Given the description of an element on the screen output the (x, y) to click on. 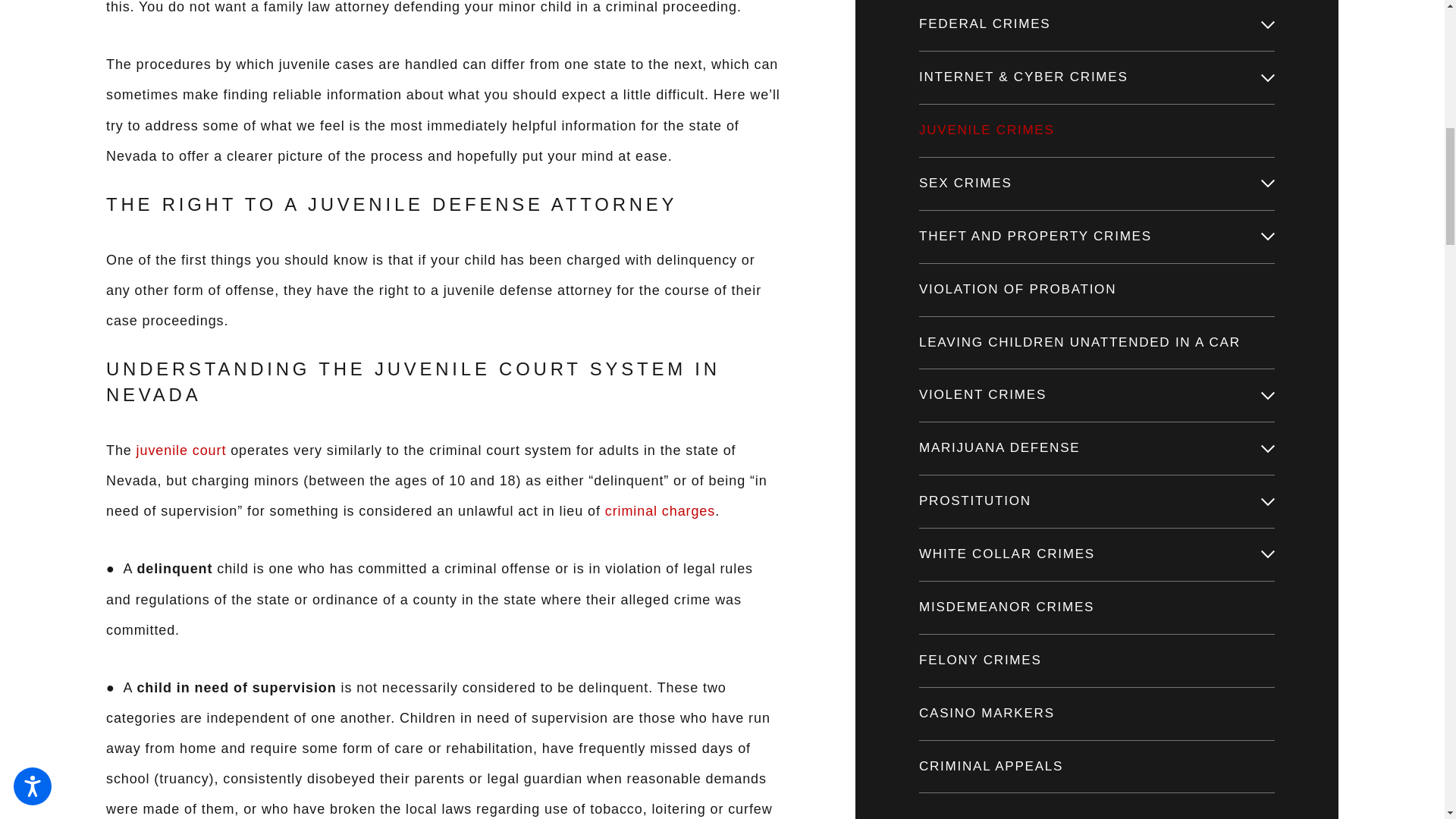
Open child menu of Marijuana Defense (1267, 448)
Open child menu of Sex Crimes (1267, 183)
Open child menu of Federal Crimes (1267, 24)
Open child menu of Prostitution (1267, 501)
Open child menu of Violent Crimes (1267, 395)
Open child menu of Theft and Property Crimes (1267, 236)
